Given the description of an element on the screen output the (x, y) to click on. 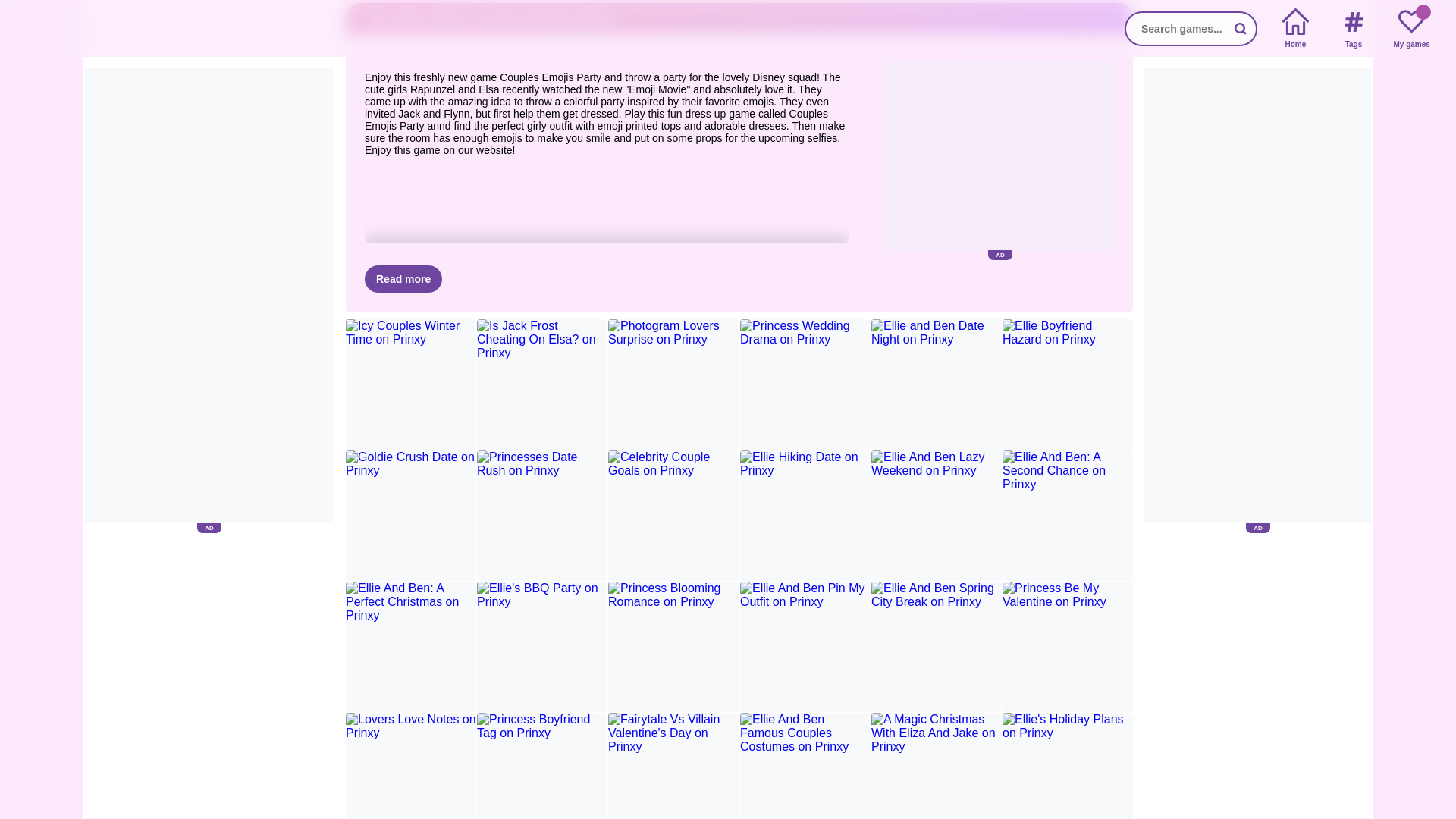
Read more (403, 278)
